Given the description of an element on the screen output the (x, y) to click on. 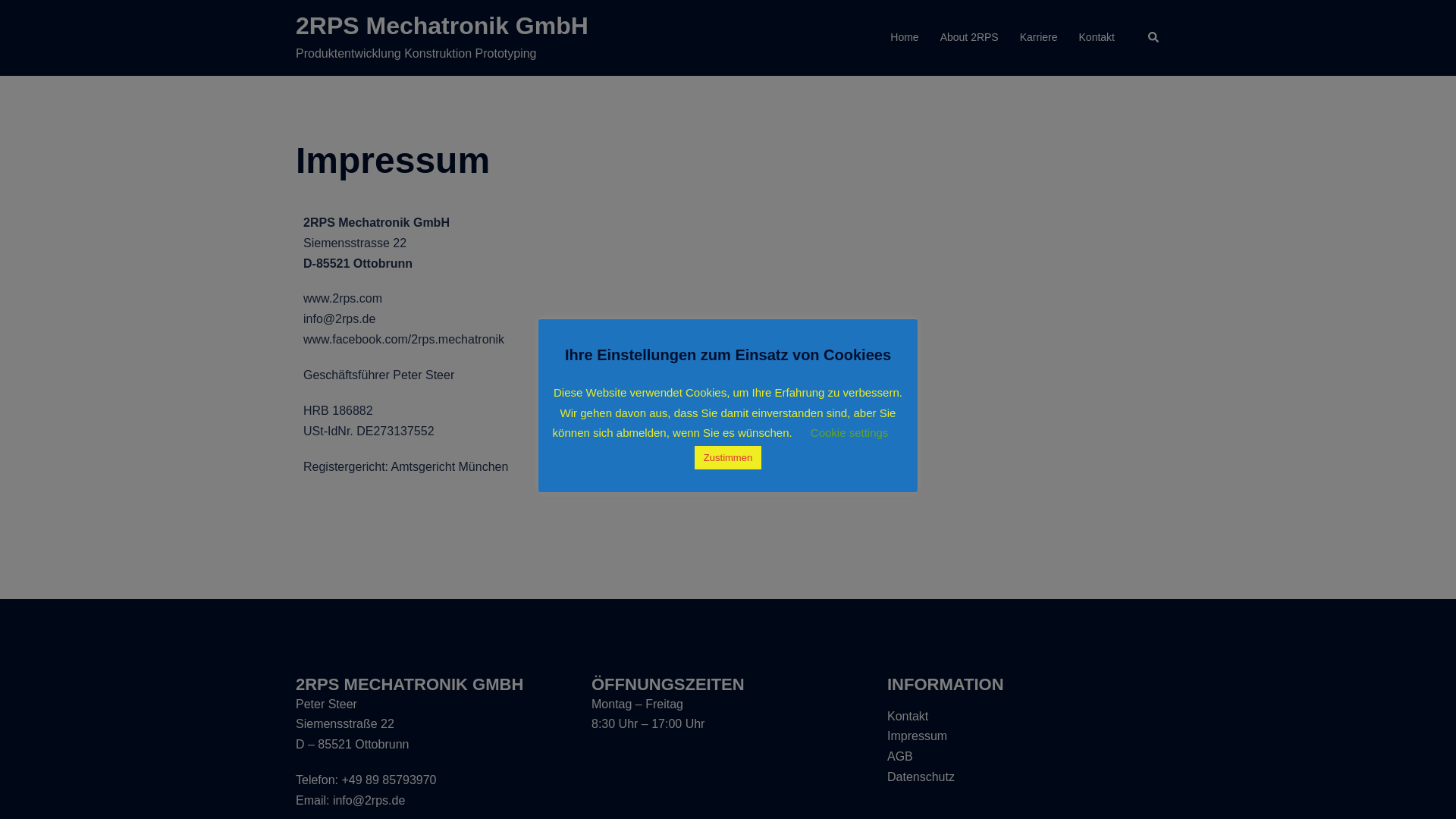
Kontakt Element type: text (1096, 37)
Impressum Element type: text (917, 735)
Zustimmen Element type: text (727, 457)
Cookie settings Element type: text (849, 432)
2RPS Mechatronik GmbH Element type: text (441, 25)
Home Element type: text (904, 37)
Kontakt Element type: text (907, 715)
About 2RPS Element type: text (969, 37)
AGB Element type: text (900, 755)
Karriere Element type: text (1038, 37)
Datenschutz Element type: text (920, 776)
